Given the description of an element on the screen output the (x, y) to click on. 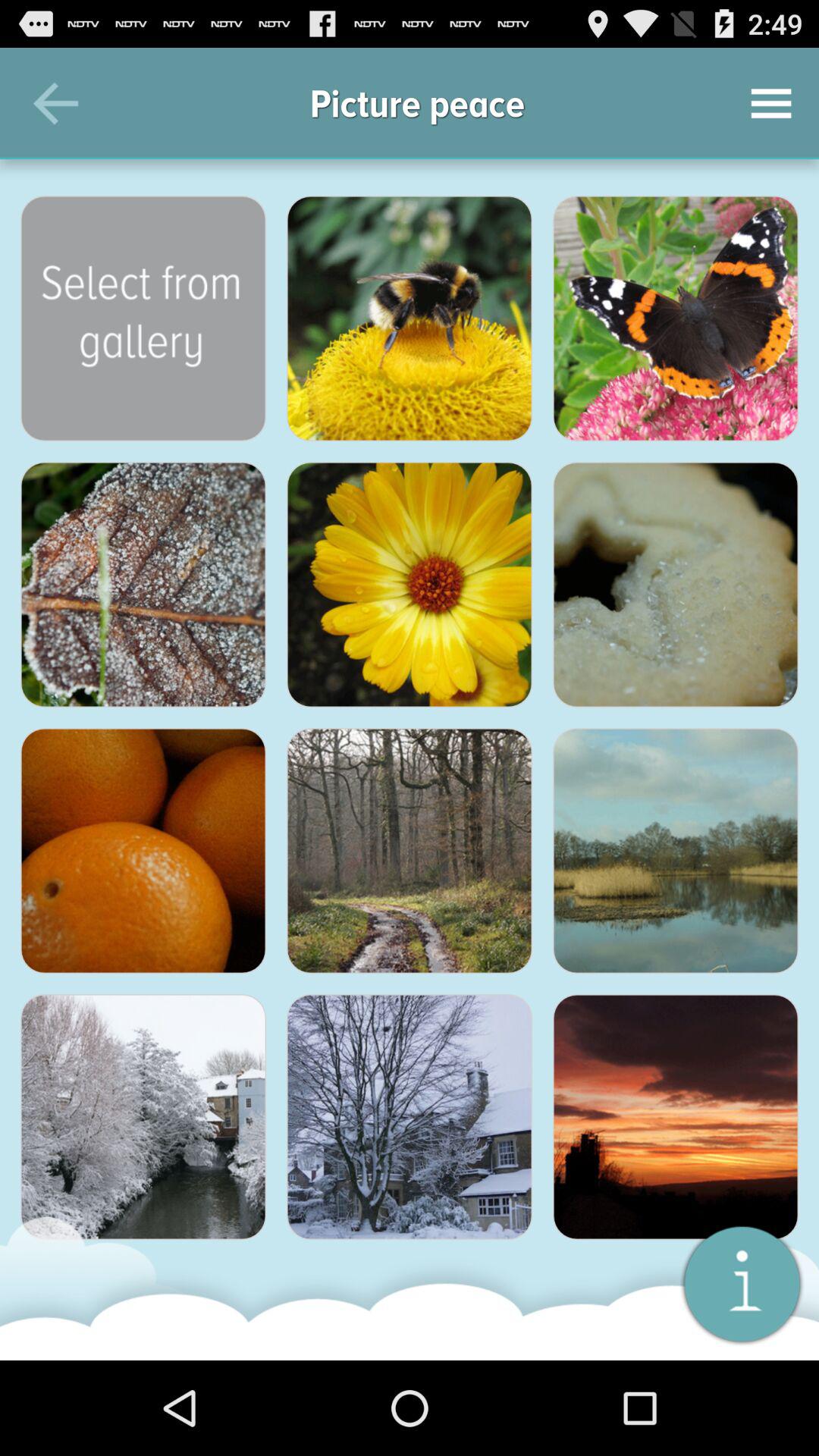
gallery wallpaper (143, 1116)
